Given the description of an element on the screen output the (x, y) to click on. 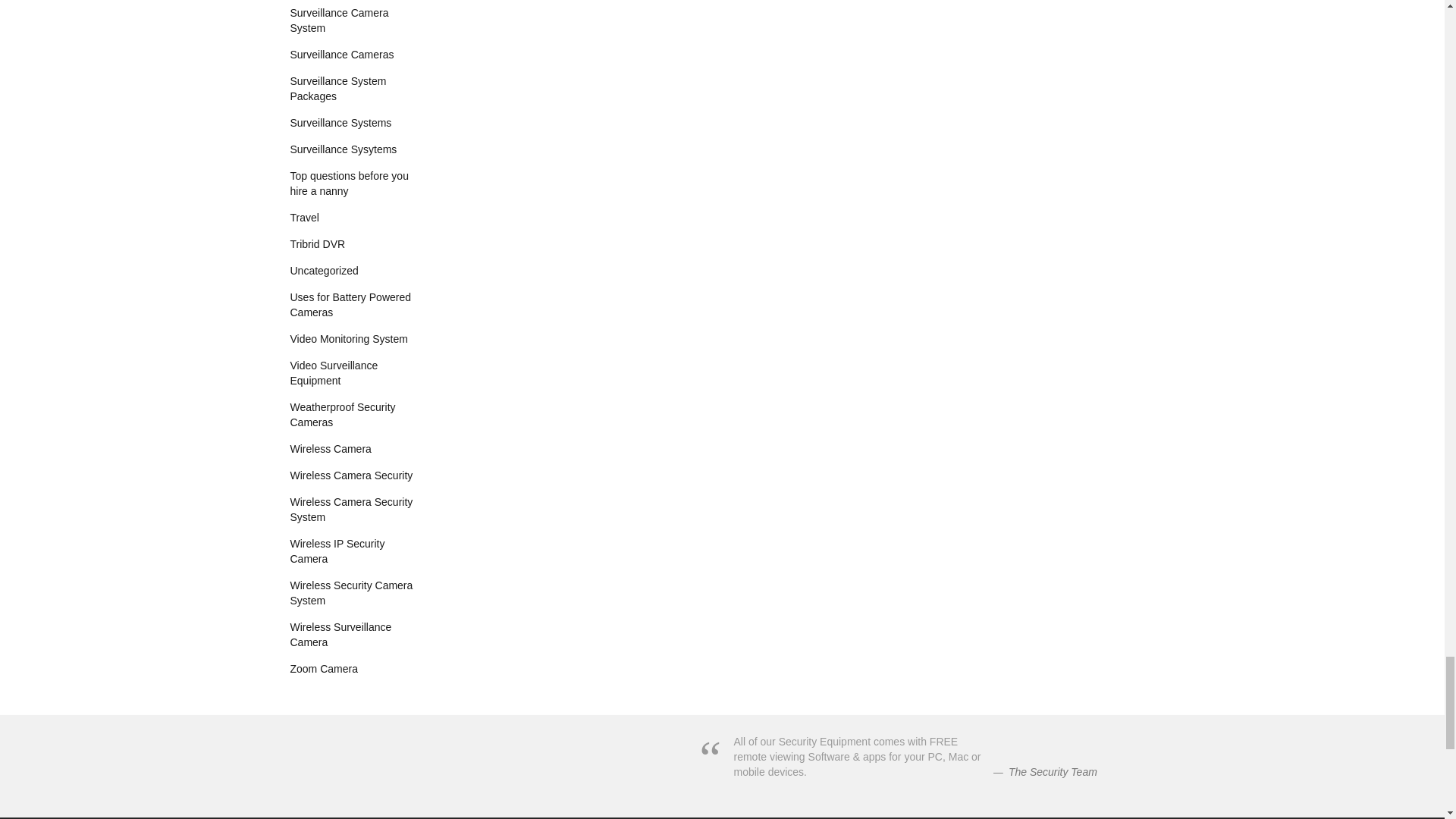
Source Title (1053, 771)
